Given the description of an element on the screen output the (x, y) to click on. 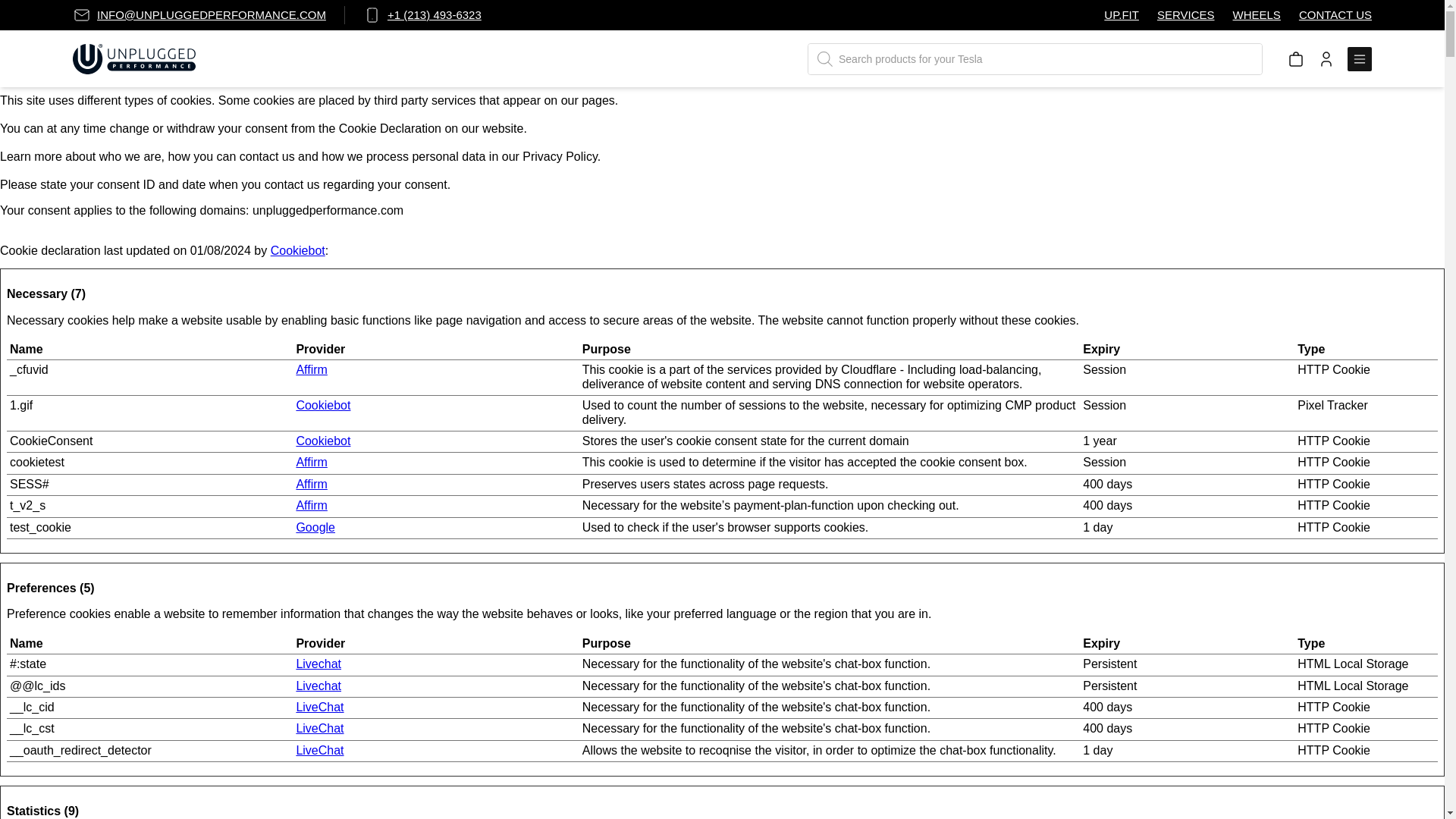
Affirm (310, 483)
LiveChat (319, 707)
Affirm (310, 504)
Cookiebot's privacy policy (322, 440)
Affirm's privacy policy (310, 369)
LiveChat (319, 727)
Affirm (310, 461)
Livechat (317, 663)
Affirm's privacy policy (310, 504)
Livechat (317, 685)
